Given the description of an element on the screen output the (x, y) to click on. 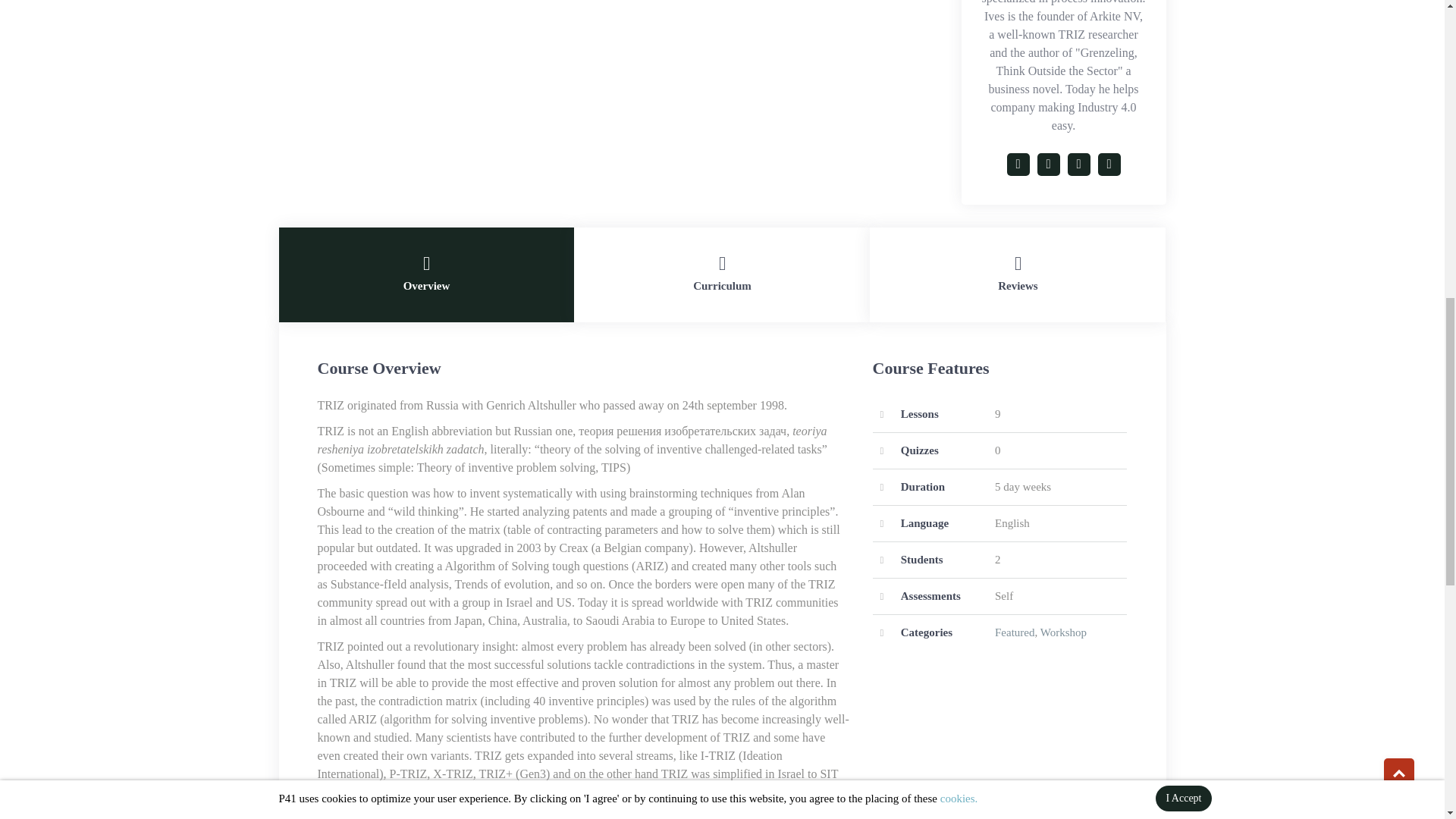
Curriculum (721, 274)
Featured (1013, 632)
TRIZ links (804, 791)
here (804, 791)
Workshop (1063, 632)
Overview (427, 274)
Reviews (1017, 274)
